Given the description of an element on the screen output the (x, y) to click on. 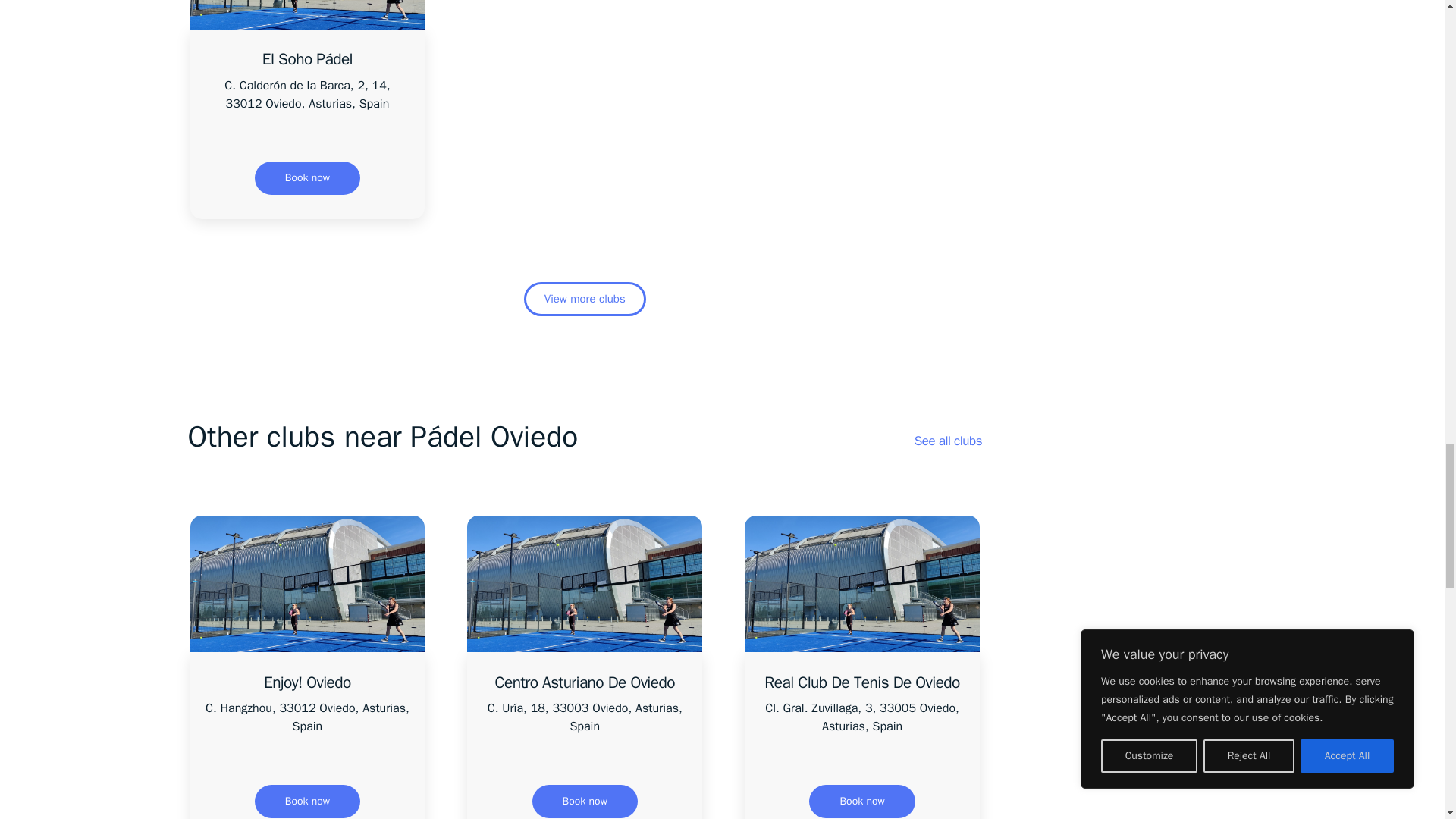
View more clubs (585, 298)
Book now (861, 801)
Book now (306, 801)
Book now (584, 801)
Book now (306, 177)
See all clubs (947, 440)
